Given the description of an element on the screen output the (x, y) to click on. 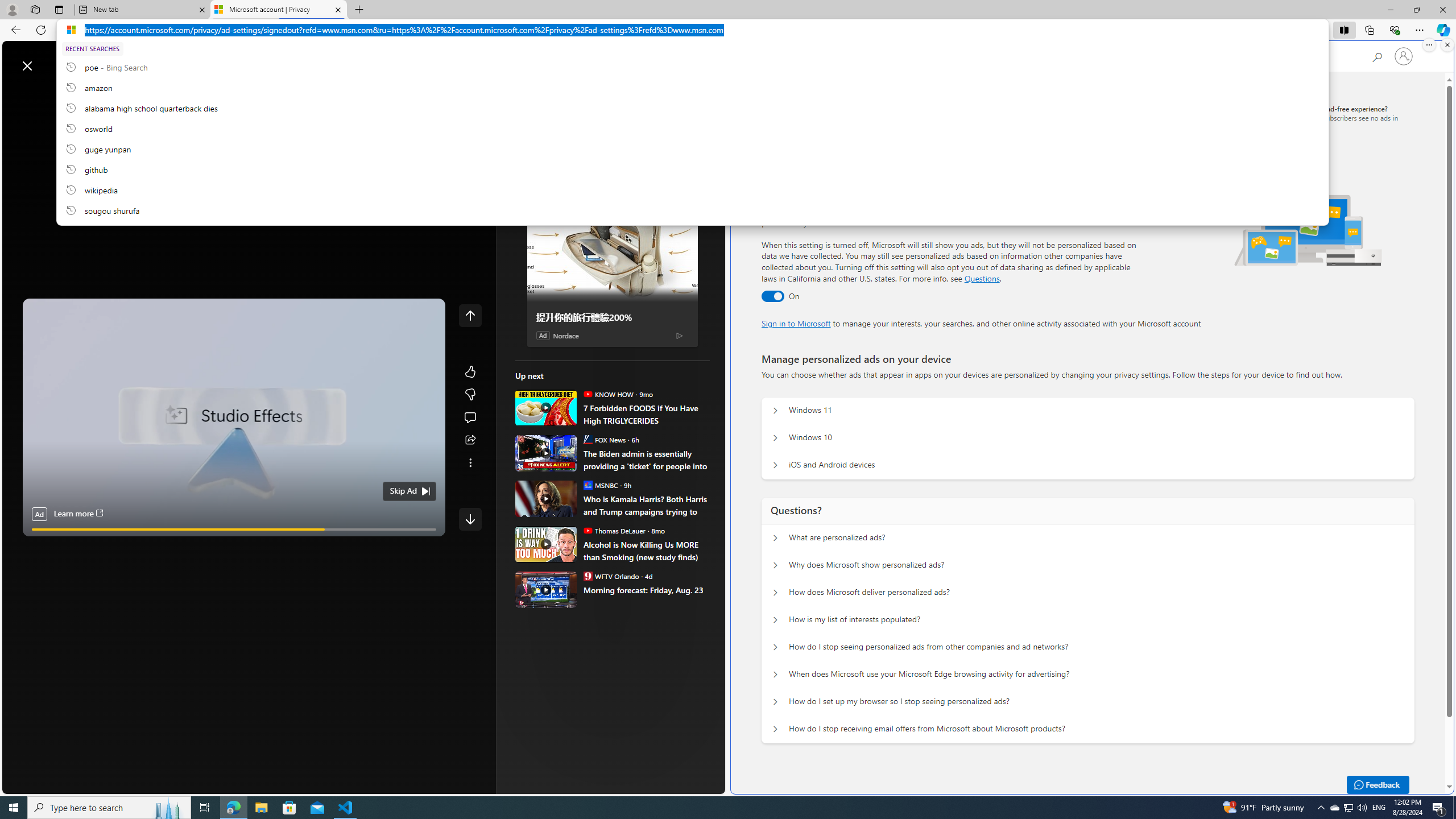
osworld, recent searches from history (691, 127)
Thomas DeLauer (587, 529)
Microsoft (805, 56)
Looking for an ad-free experience? (1331, 117)
The Associated Press (554, 366)
Manage personalized ads on your device Windows 11 (775, 410)
